Given the description of an element on the screen output the (x, y) to click on. 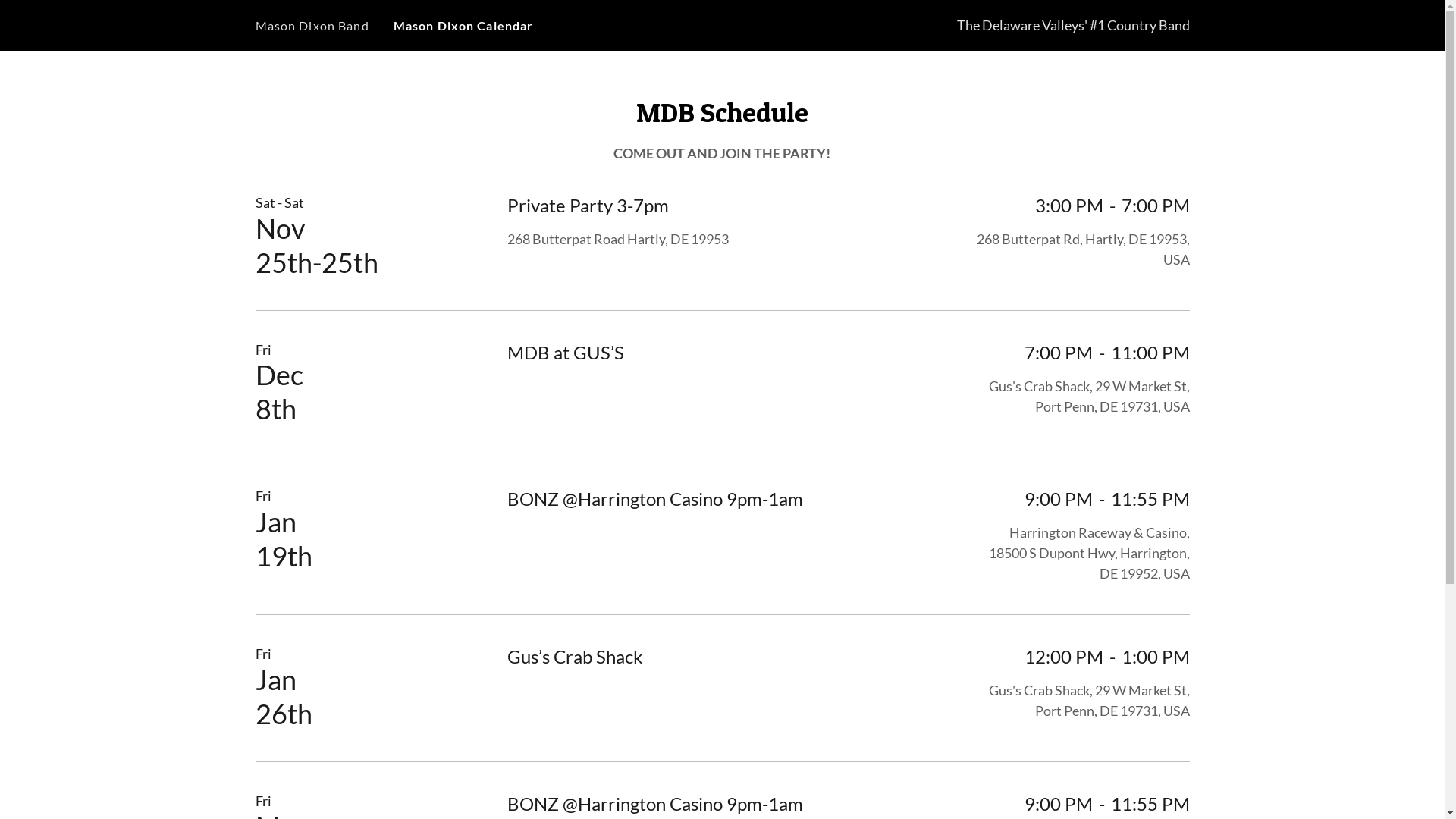
Mason Dixon Calendar Element type: text (463, 25)
Mason Dixon Band Element type: text (311, 25)
